Given the description of an element on the screen output the (x, y) to click on. 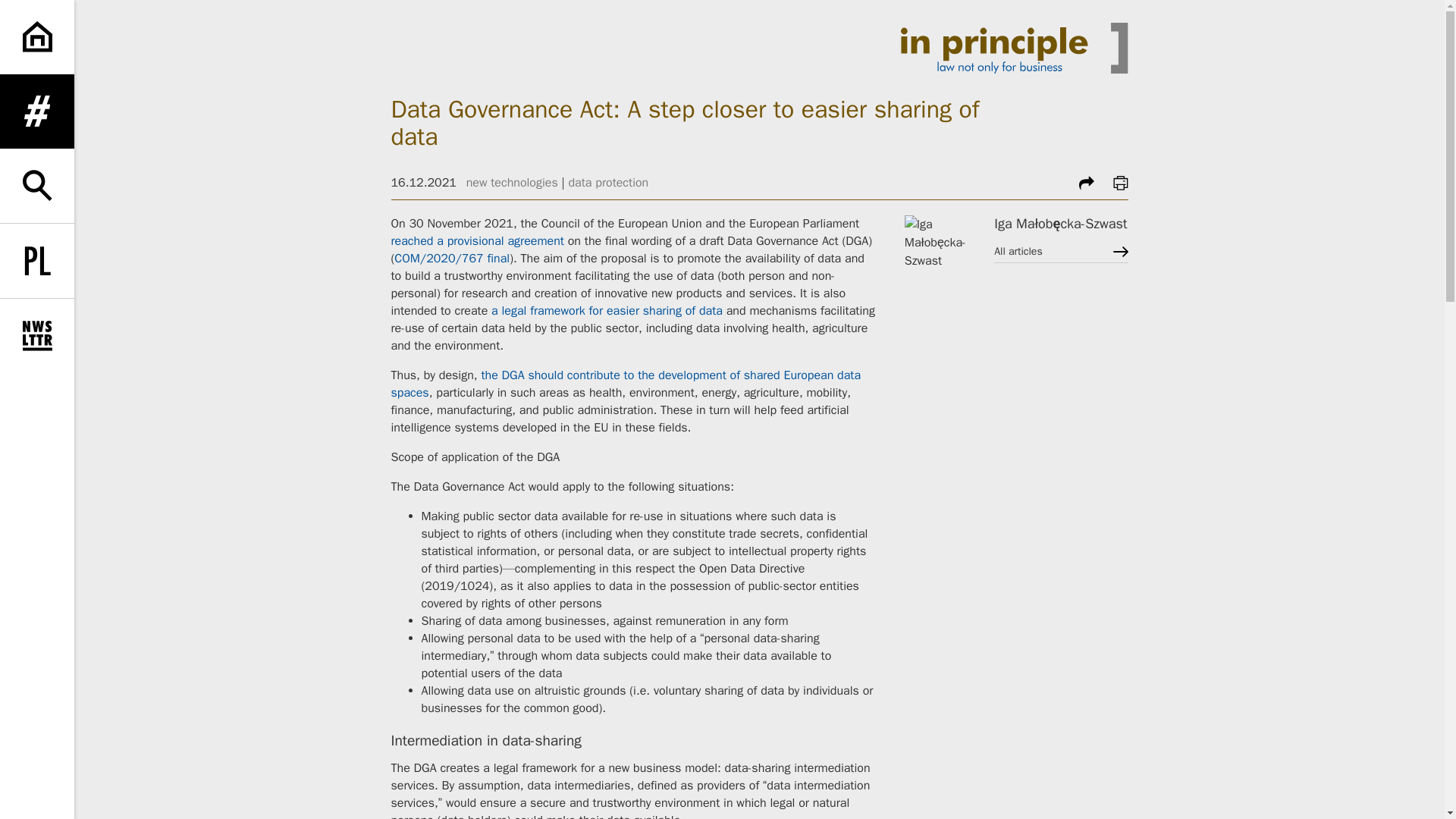
expand menu (37, 111)
expand search form (37, 185)
expand newsletter subscription form (37, 335)
